Given the description of an element on the screen output the (x, y) to click on. 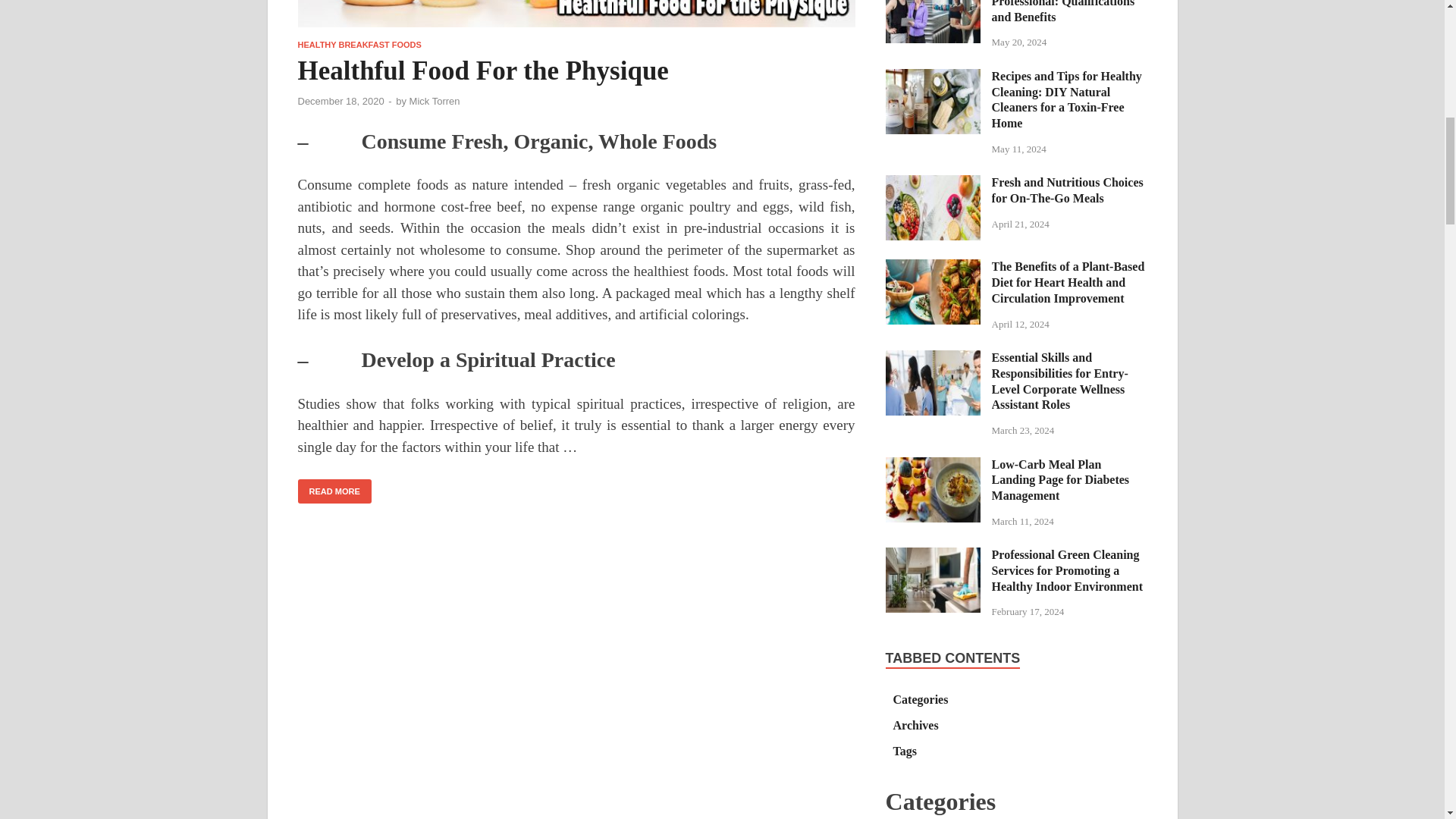
Fresh and Nutritious Choices for On-The-Go Meals (932, 183)
Healthful Food For the Physique (482, 70)
Healthful Food For the Physique (575, 20)
December 18, 2020 (340, 101)
HEALTHY BREAKFAST FOODS (358, 44)
READ MORE (334, 491)
Low-Carb Meal Plan Landing Page for Diabetes Management (932, 465)
